Given the description of an element on the screen output the (x, y) to click on. 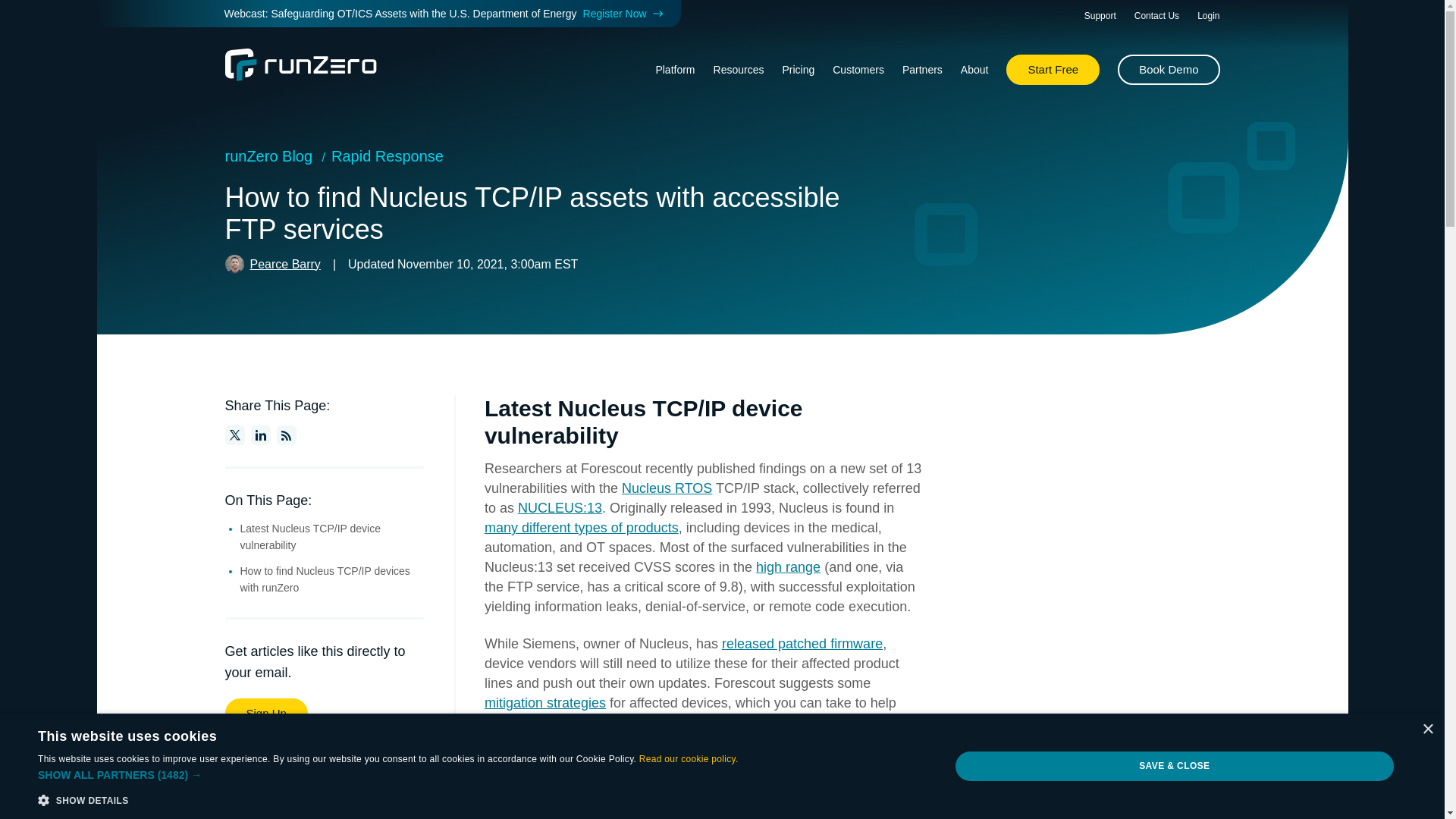
Login (1208, 15)
Start Free (1052, 69)
Partners (922, 69)
Pricing (797, 69)
Book Demo (1169, 69)
Customers (857, 69)
Support (1100, 15)
About (974, 69)
Contact Us (1156, 15)
Resources (738, 69)
